Given the description of an element on the screen output the (x, y) to click on. 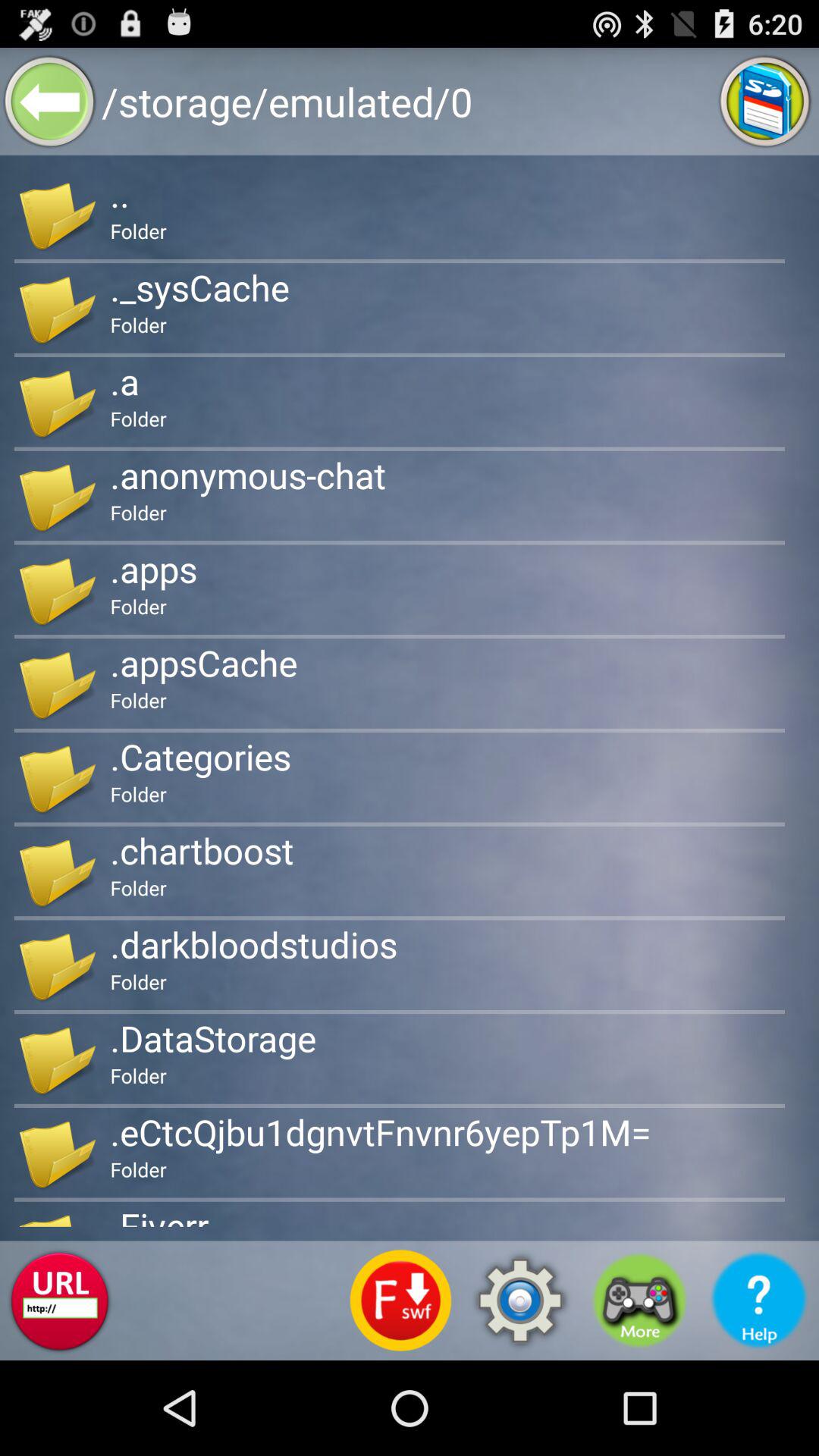
open the item below .ectcqjbu1dgnvtfnvnr6yeptp1m= icon (520, 1300)
